Given the description of an element on the screen output the (x, y) to click on. 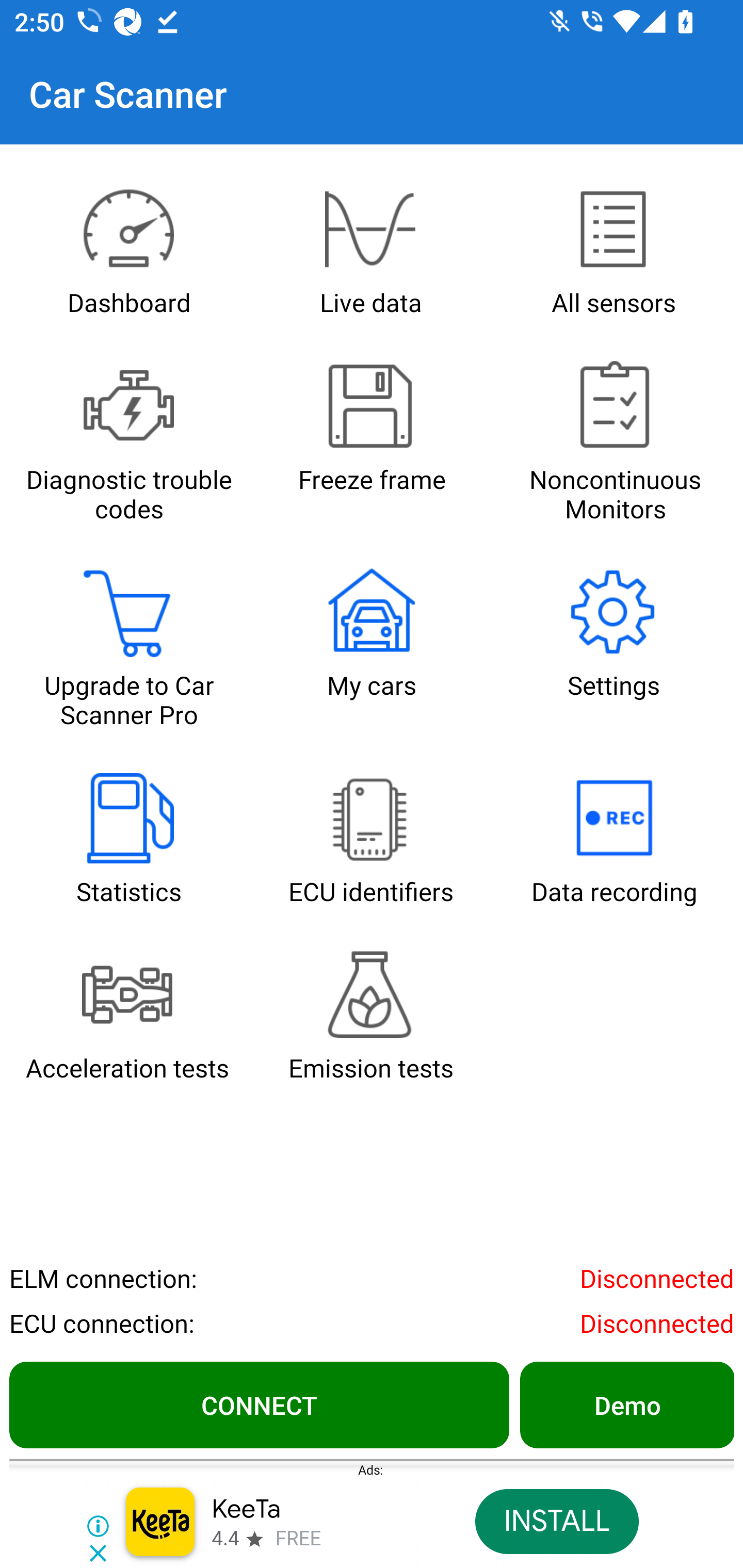
CONNECT (258, 1404)
Demo (627, 1404)
INSTALL (556, 1521)
KeeTa (246, 1509)
4.4 (224, 1539)
FREE (298, 1539)
